Given the description of an element on the screen output the (x, y) to click on. 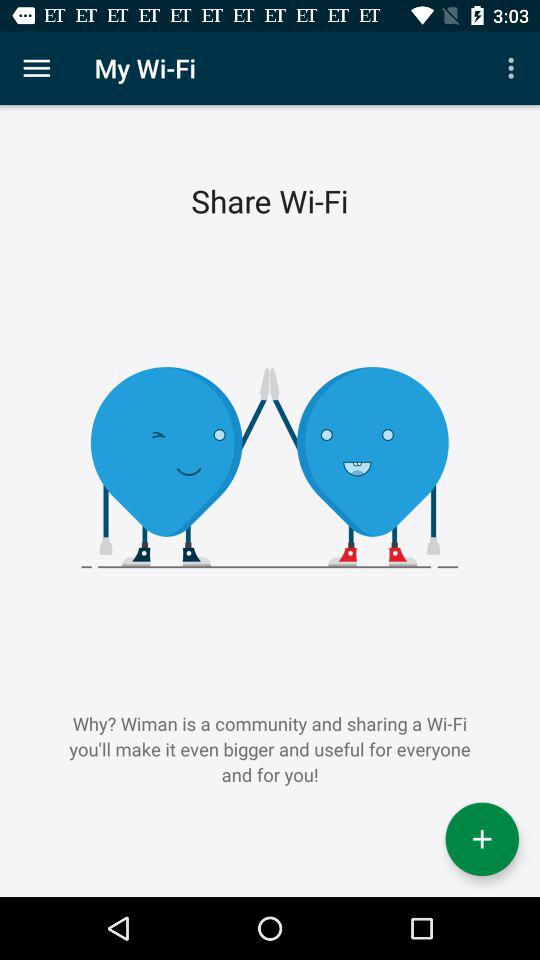
select the item to the left of the my wi-fi icon (36, 68)
